Given the description of an element on the screen output the (x, y) to click on. 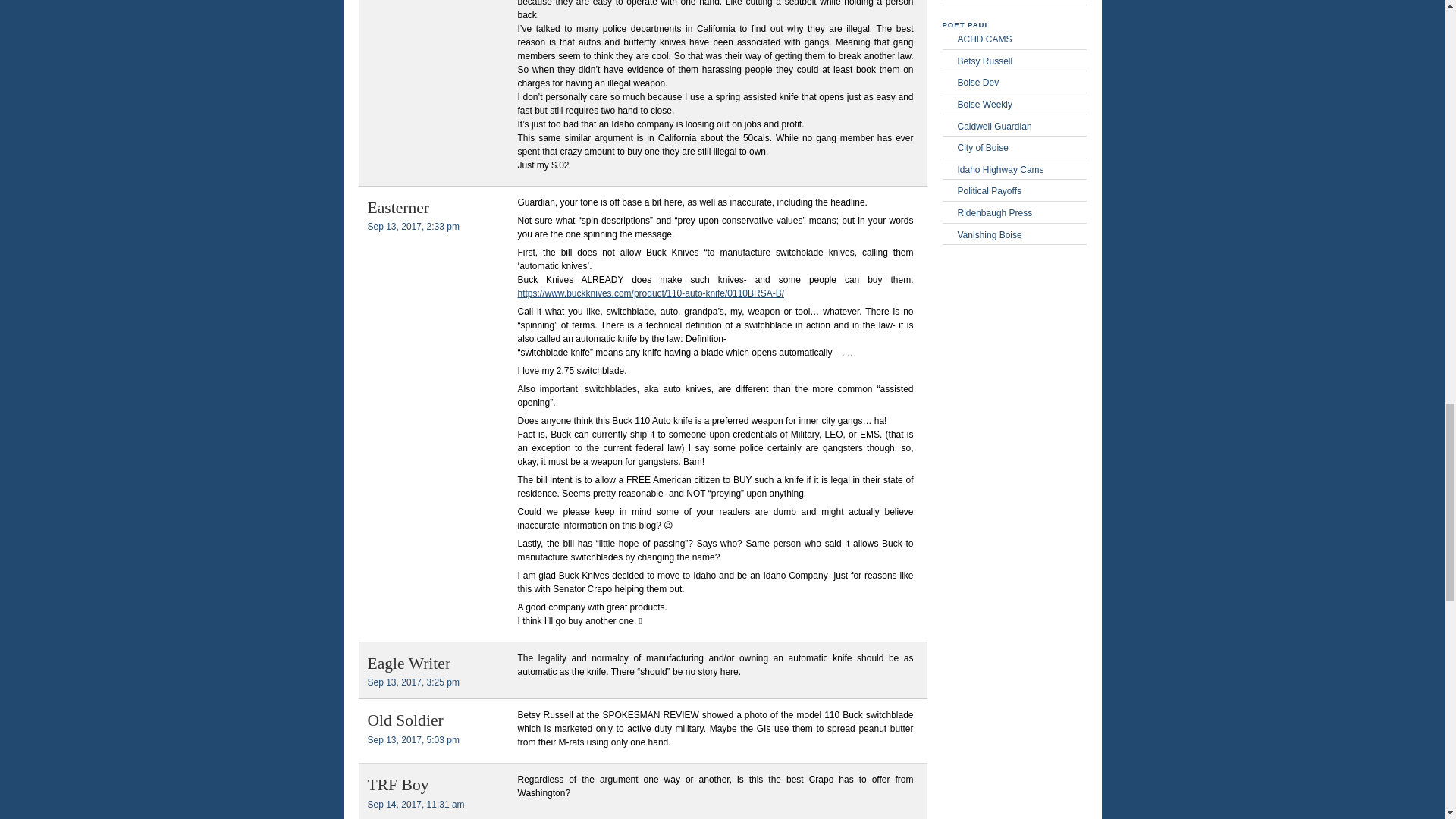
Sep 13, 2017, 5:03 pm (412, 739)
Sep 14, 2017, 11:31 am (415, 804)
Sep 13, 2017, 2:33 pm (412, 226)
Sep 13, 2017, 3:25 pm (412, 682)
